Given the description of an element on the screen output the (x, y) to click on. 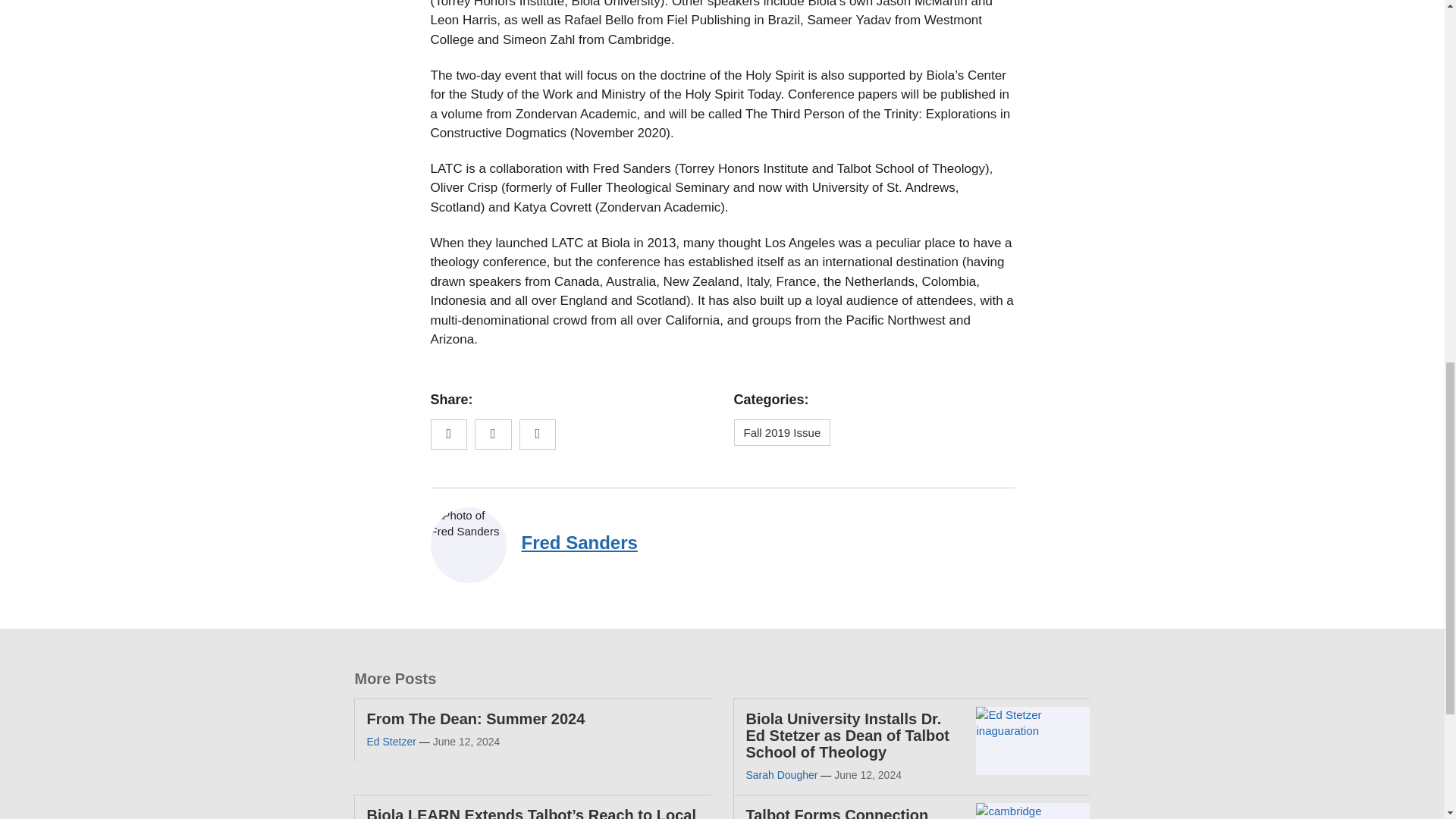
Sarah Dougher (780, 775)
Fred Sanders (579, 542)
Fall 2019 Issue (782, 432)
Ed Stetzer (390, 741)
From The Dean: Summer 2024 (475, 718)
